Given the description of an element on the screen output the (x, y) to click on. 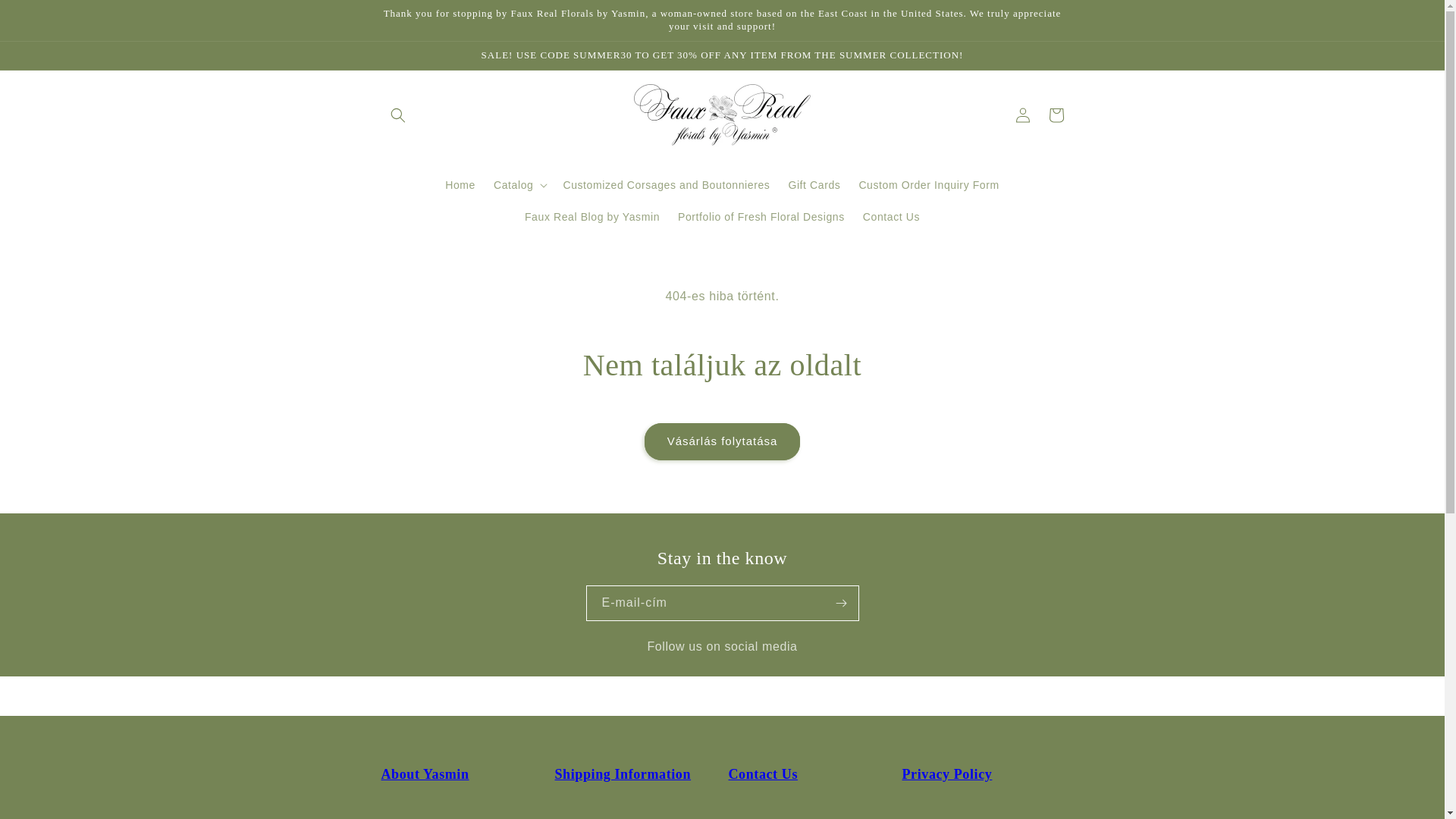
Home (459, 184)
